Given the description of an element on the screen output the (x, y) to click on. 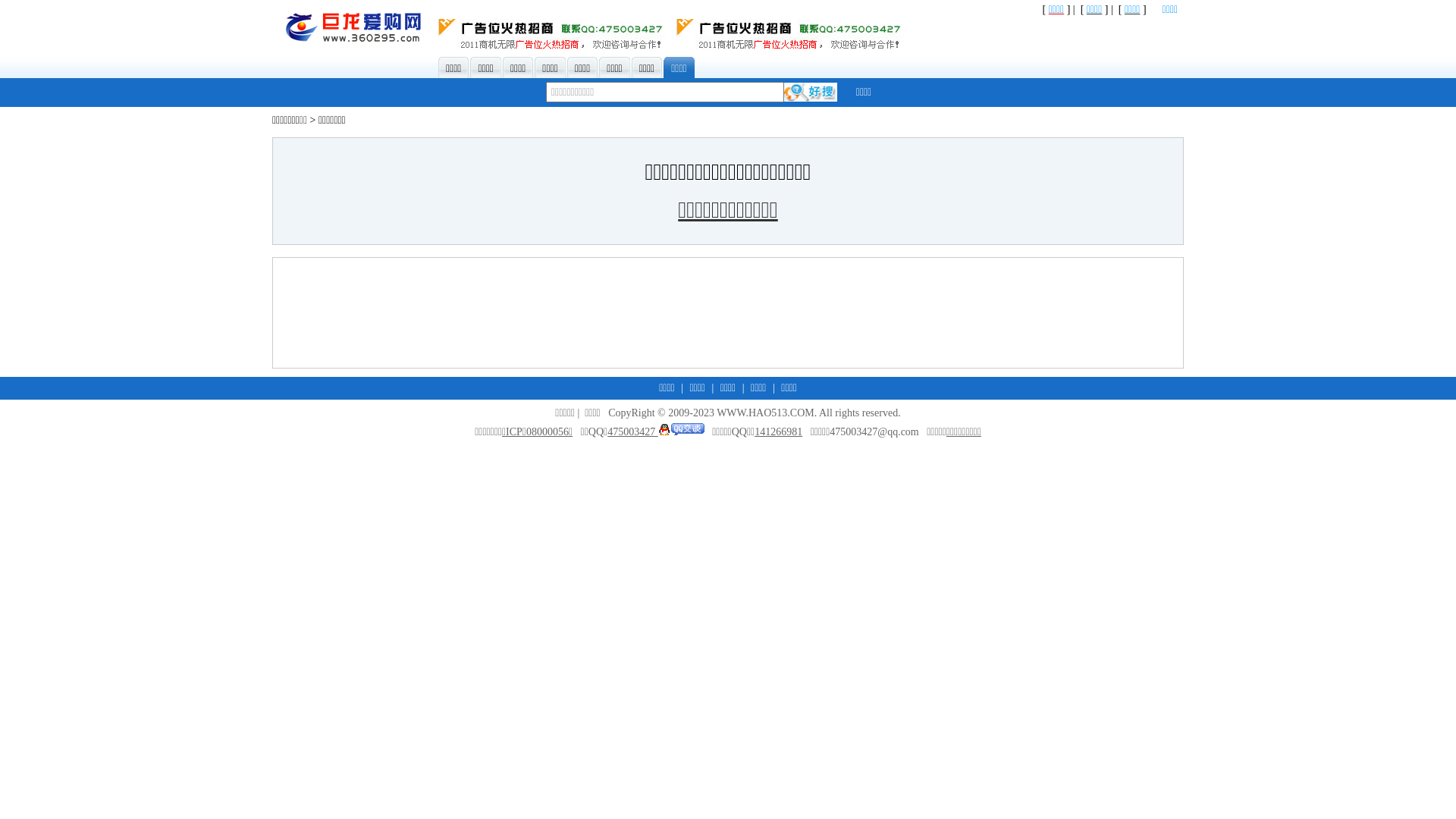
475003427 Element type: text (655, 431)
141266981 Element type: text (778, 431)
